Given the description of an element on the screen output the (x, y) to click on. 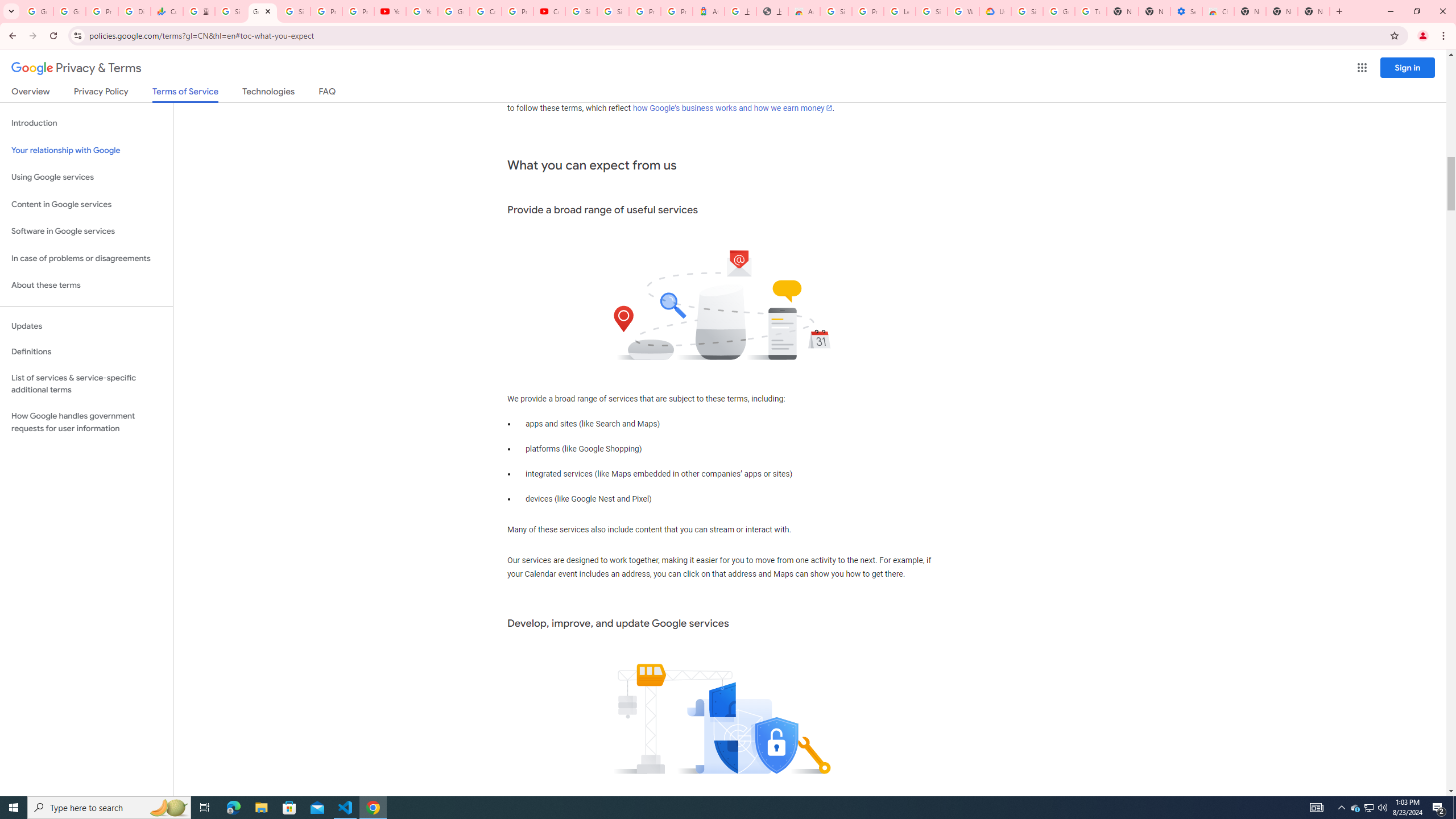
Privacy Checkup (358, 11)
Settings - Accessibility (1185, 11)
New Tab (1249, 11)
Sign in - Google Accounts (1027, 11)
Google Account Help (453, 11)
